Given the description of an element on the screen output the (x, y) to click on. 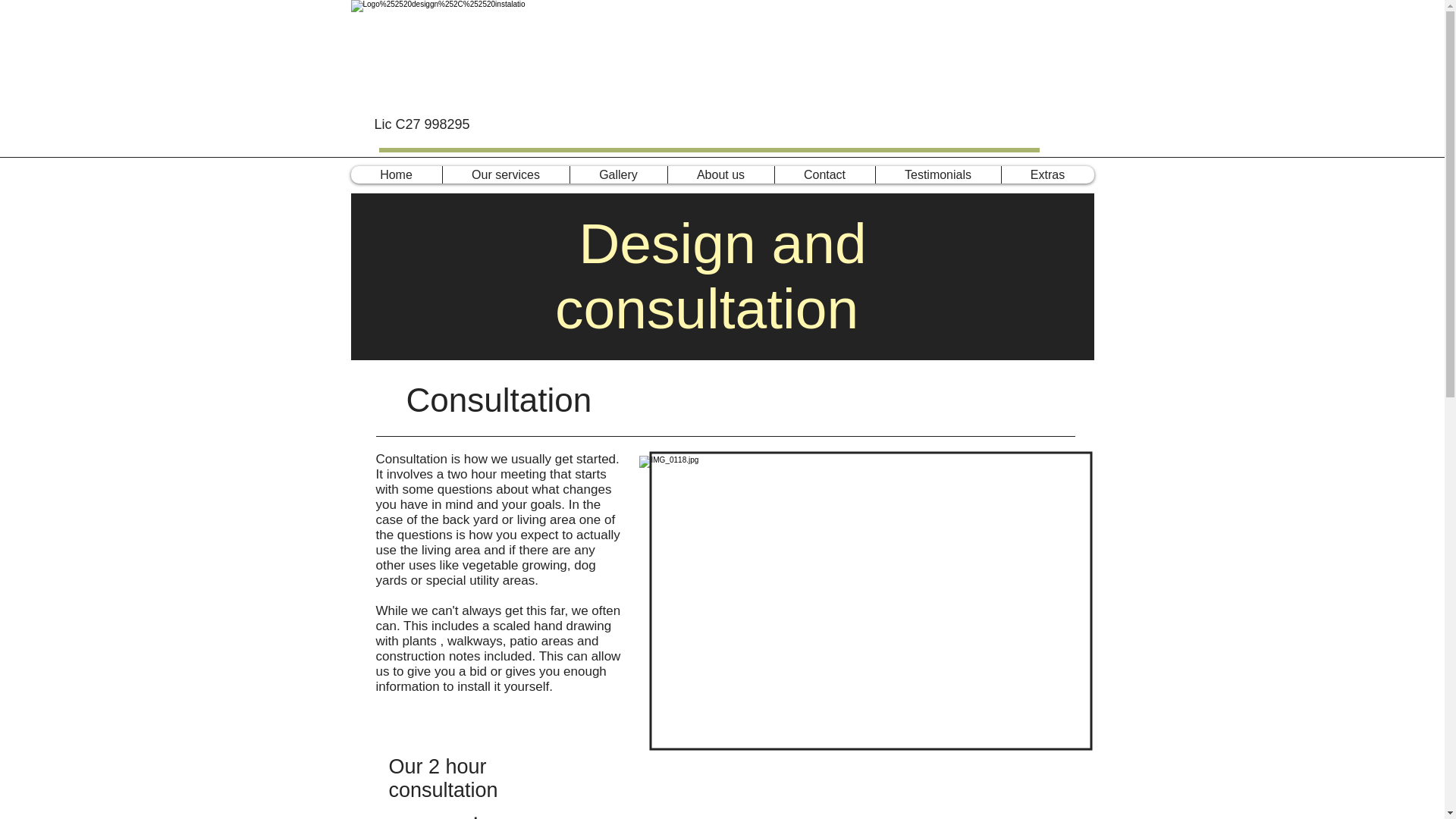
About us (720, 174)
Our services (505, 174)
Extras (1047, 174)
Home (395, 174)
Gallery (617, 174)
Contact (824, 174)
Testimonials (938, 174)
